Given the description of an element on the screen output the (x, y) to click on. 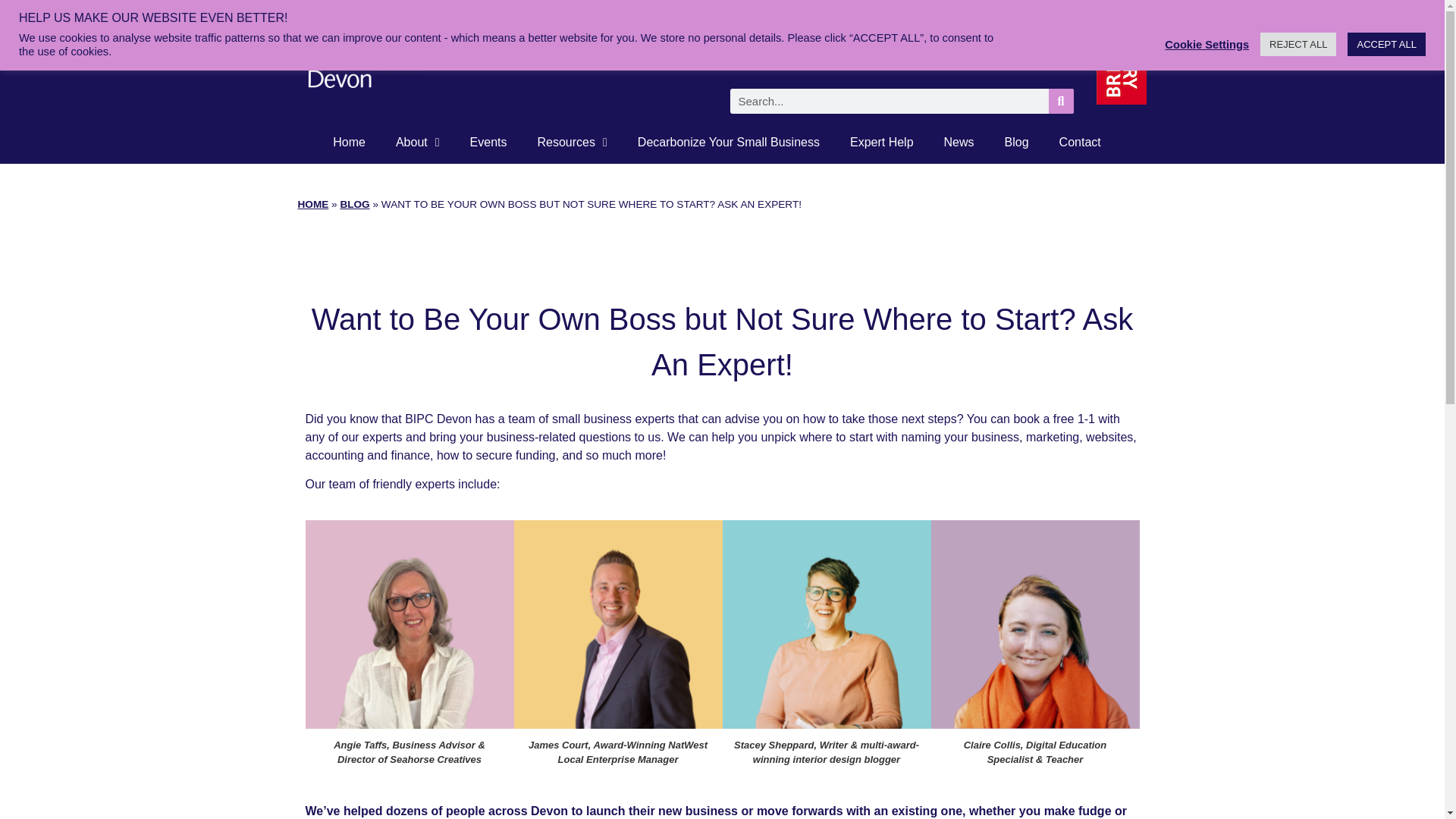
Blog (1016, 142)
Resources (571, 142)
News (959, 142)
About (417, 142)
Contact (1079, 142)
Home (348, 142)
Events (488, 142)
Expert Help (881, 142)
Decarbonize Your Small Business (728, 142)
